Given the description of an element on the screen output the (x, y) to click on. 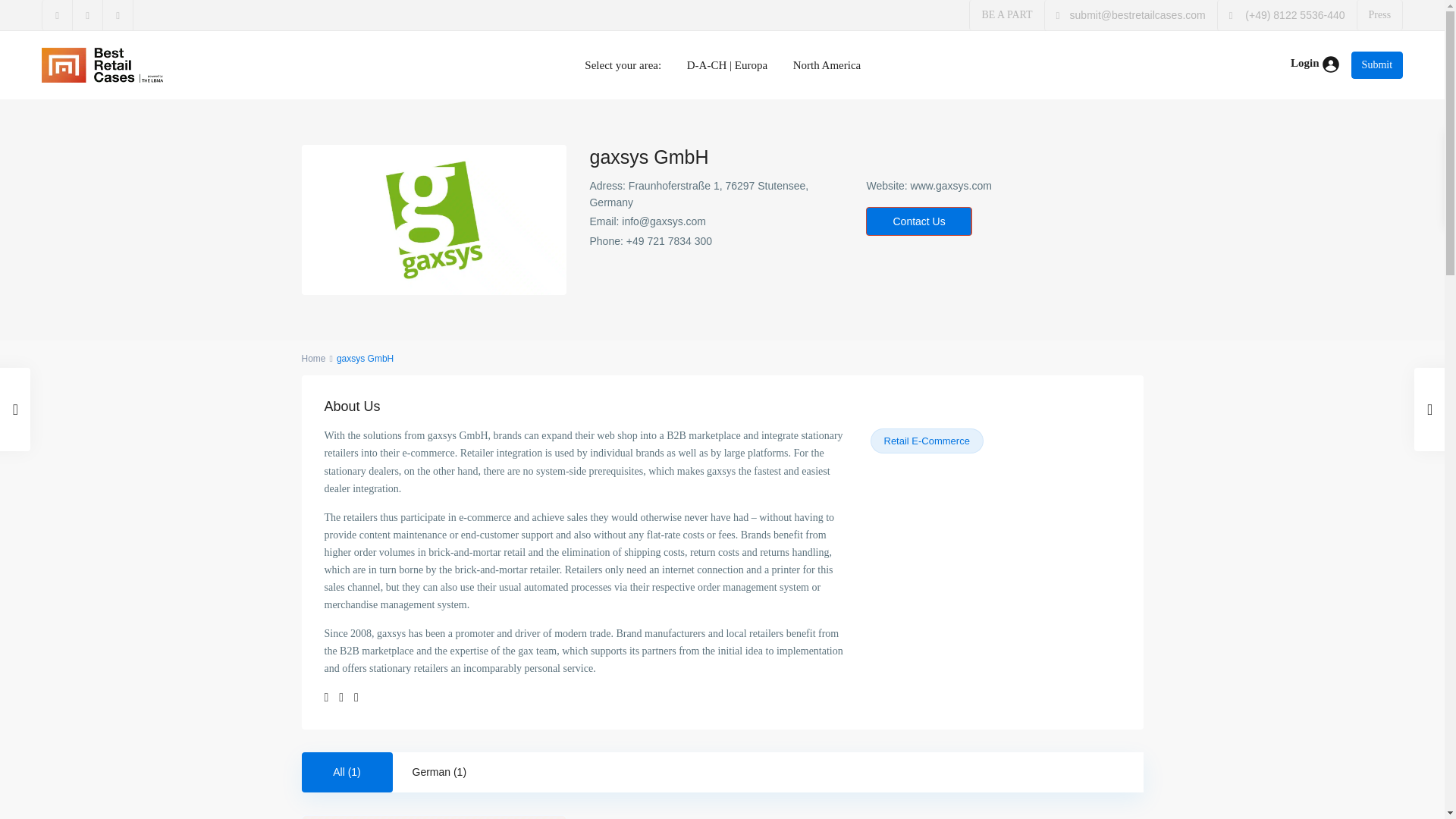
Select your area: (622, 65)
Submit (1377, 64)
www.gaxsys.com (951, 185)
Contact Us (918, 221)
BE A PART (1006, 14)
Home (313, 357)
North America (826, 65)
Retail E-Commerce (927, 440)
